Given the description of an element on the screen output the (x, y) to click on. 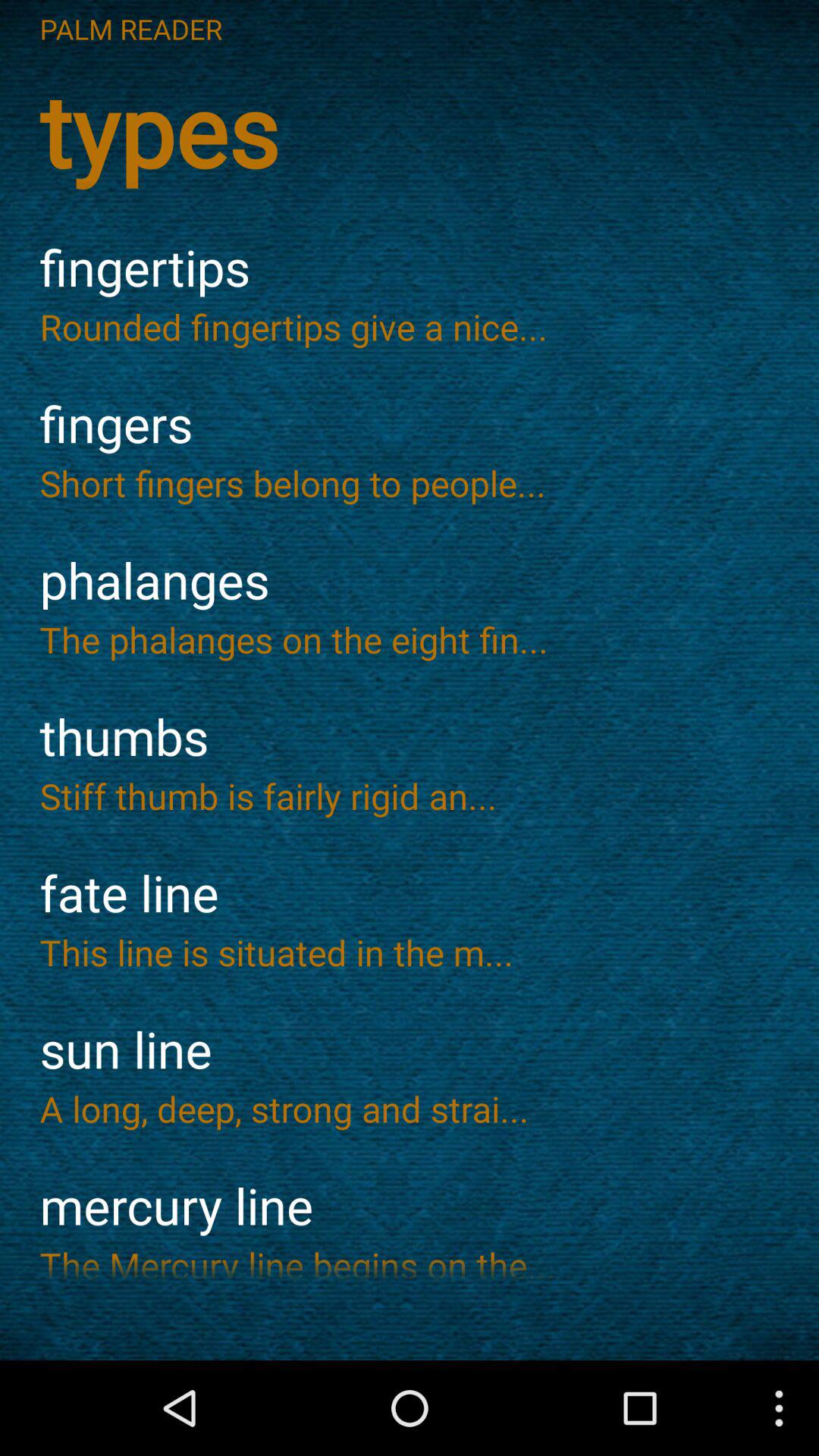
scroll until the thumbs app (409, 736)
